Given the description of an element on the screen output the (x, y) to click on. 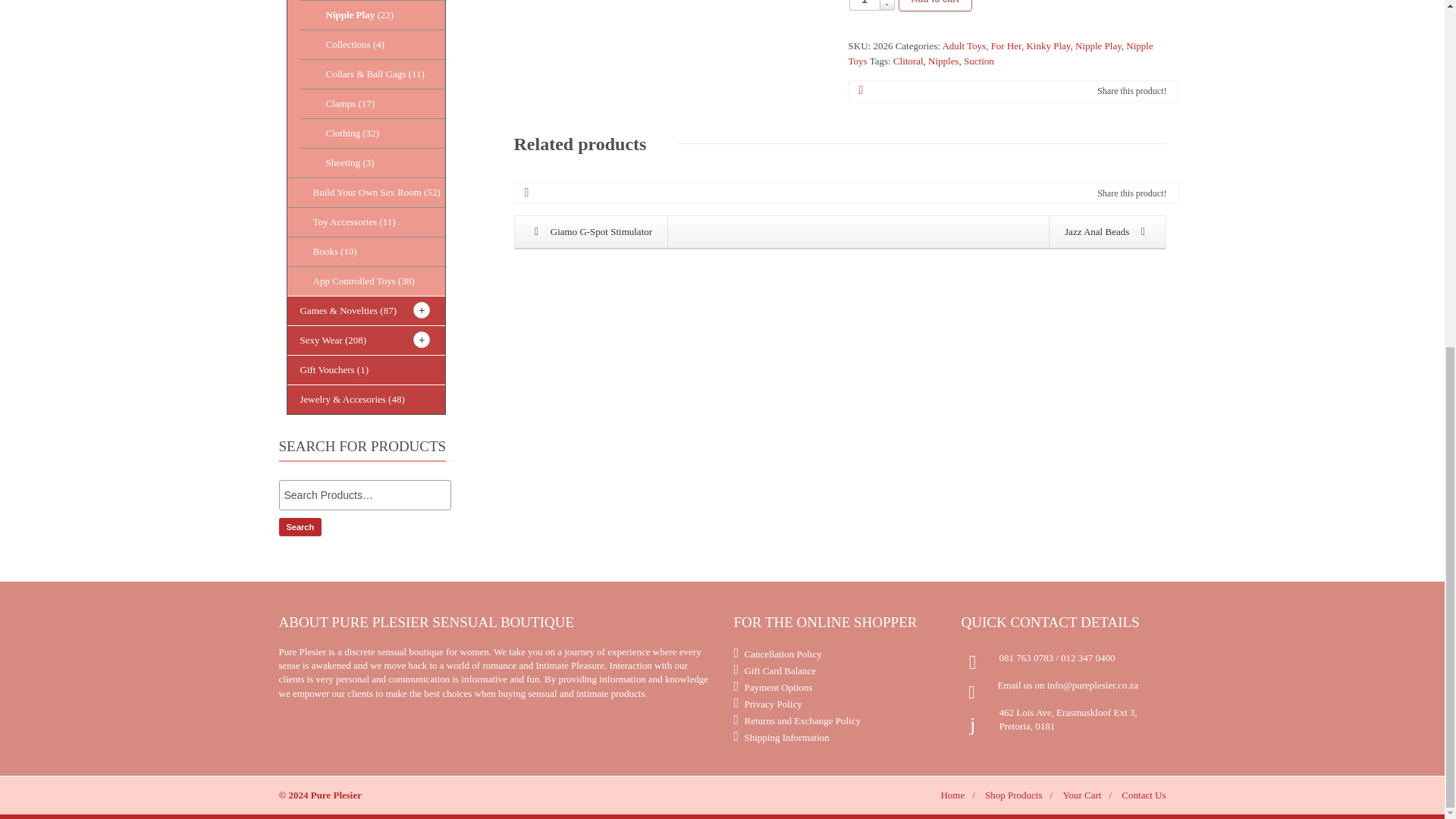
Add to cart (935, 5)
Share Vacuum Twist Suction Cups on Email (860, 90)
Nipples (943, 60)
Giamo G-Spot Stimulator (590, 231)
Qty (863, 5)
Suction (978, 60)
For Her (1006, 45)
Adult Toys (963, 45)
Nipple Toys (1000, 53)
1 (863, 5)
